Given the description of an element on the screen output the (x, y) to click on. 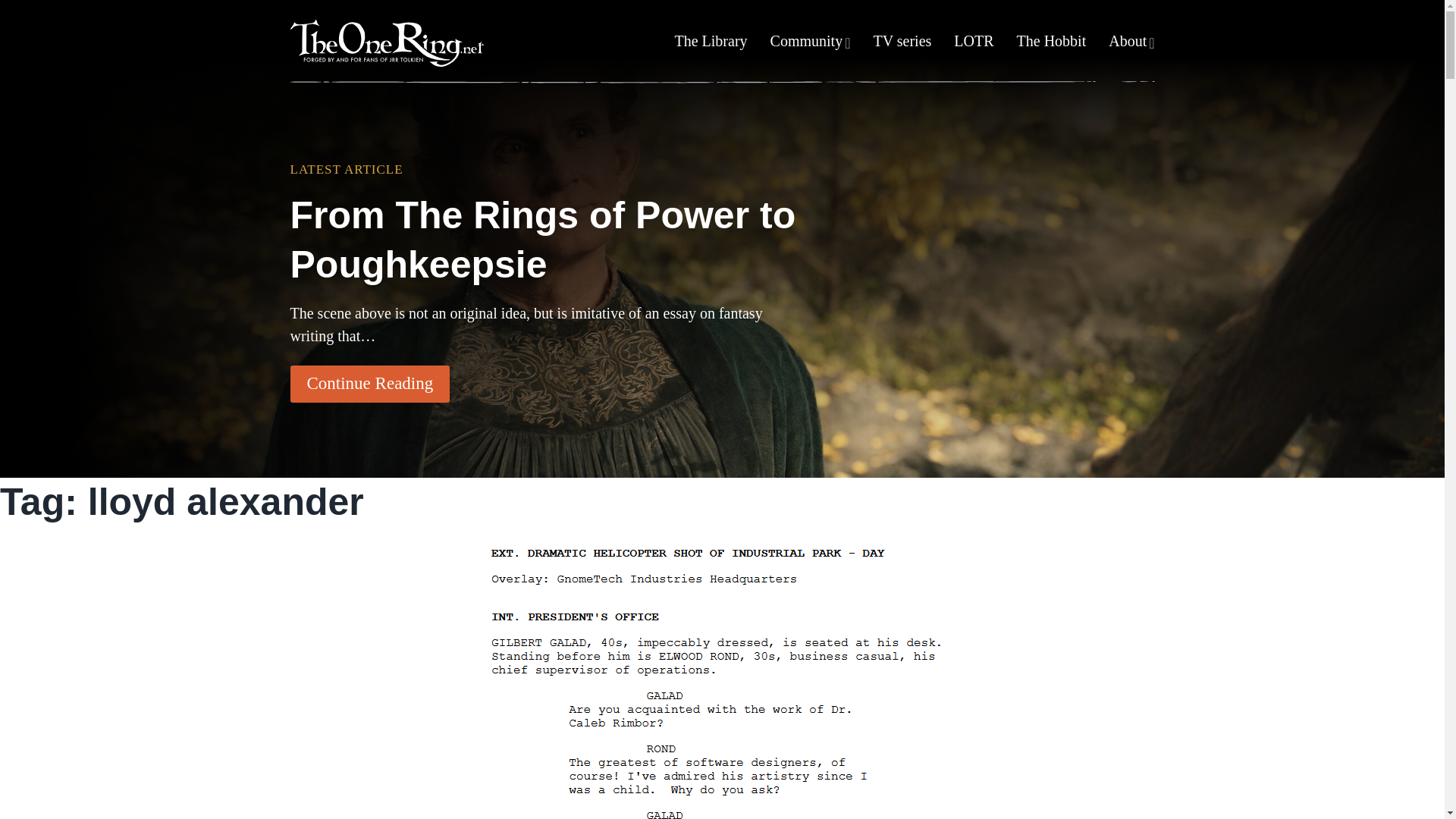
The Hobbit (1051, 46)
LOTR (972, 46)
Continue Reading (369, 383)
Community (806, 46)
TV series (901, 46)
The Library (711, 46)
About (1127, 46)
From The Rings of Power to Poughkeepsie (548, 239)
